Given the description of an element on the screen output the (x, y) to click on. 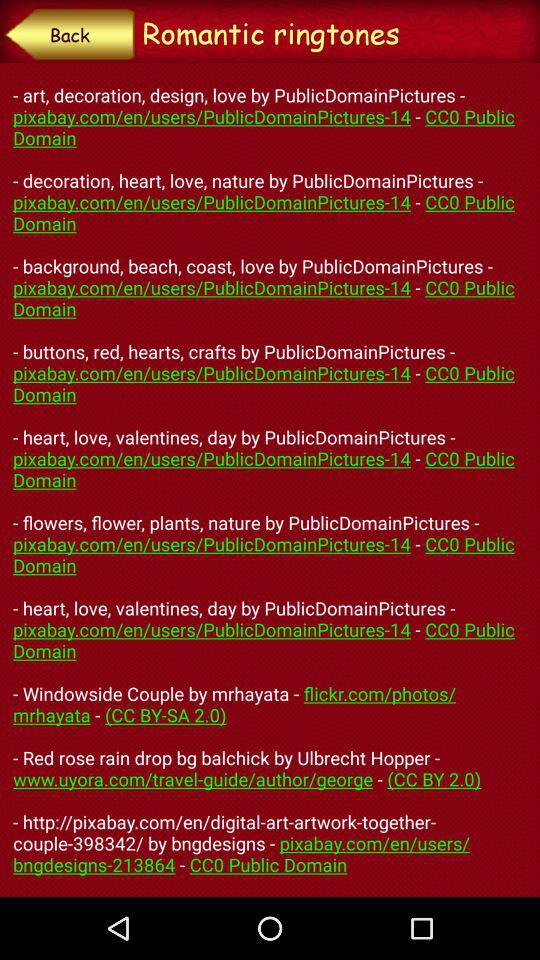
click the icon next to the romantic ringtones (69, 34)
